Given the description of an element on the screen output the (x, y) to click on. 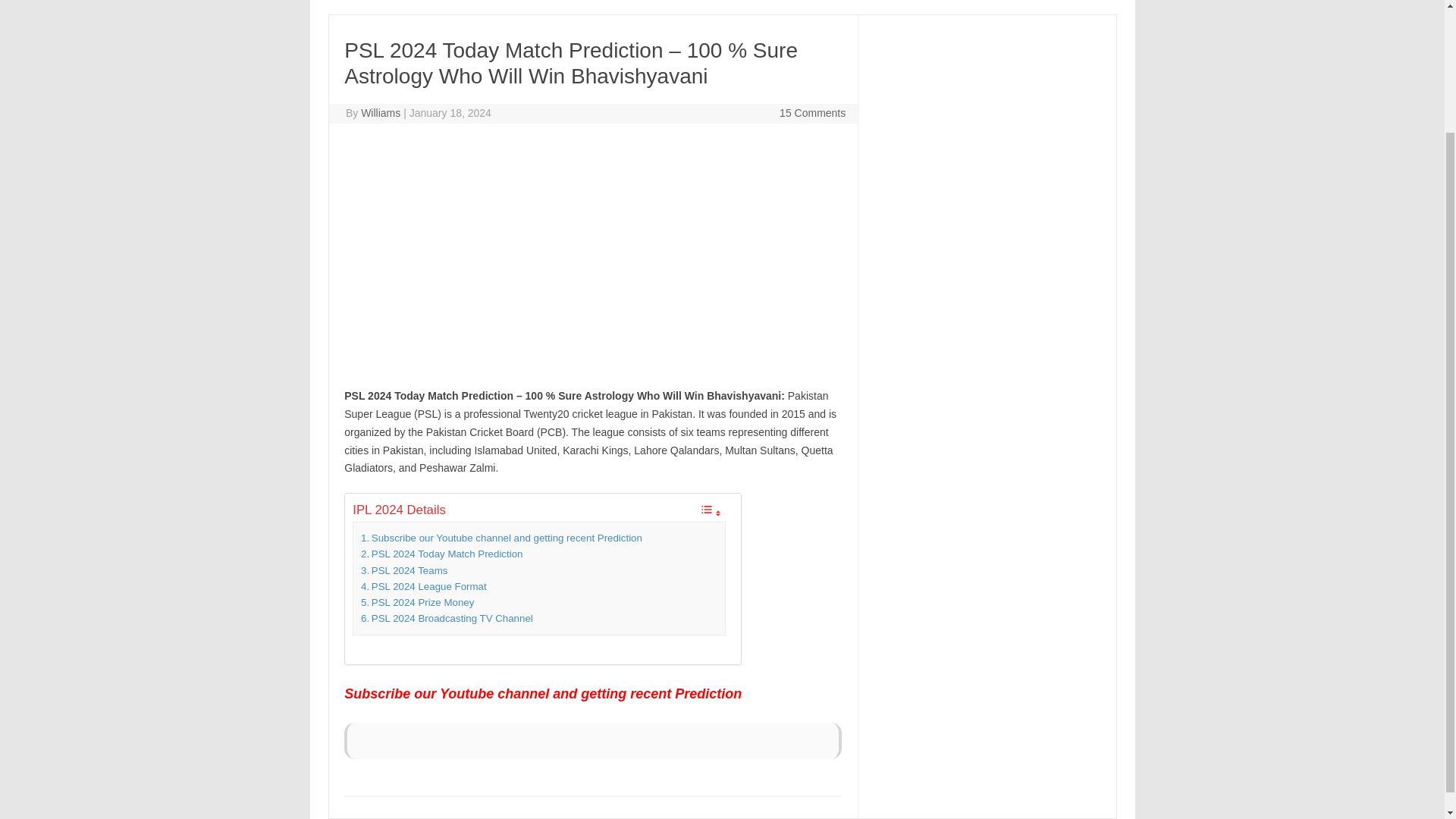
PSL 2024 League Format (423, 586)
Posts by Williams (380, 112)
PSL 2024 Today Match Prediction (441, 553)
PSL 2024 Prize Money (417, 602)
PSL 2024 Teams (403, 570)
PSL 2024 Prize Money (417, 602)
PSL 2024 Broadcasting TV Channel (446, 618)
15 Comments (811, 112)
PSL 2024 Today Match Prediction (441, 553)
Williams (380, 112)
PSL 2024 Broadcasting TV Channel (446, 618)
PSL 2024 League Format (423, 586)
Subscribe our Youtube channel and getting recent Prediction  (503, 537)
PSL 2024 Teams (403, 570)
